Given the description of an element on the screen output the (x, y) to click on. 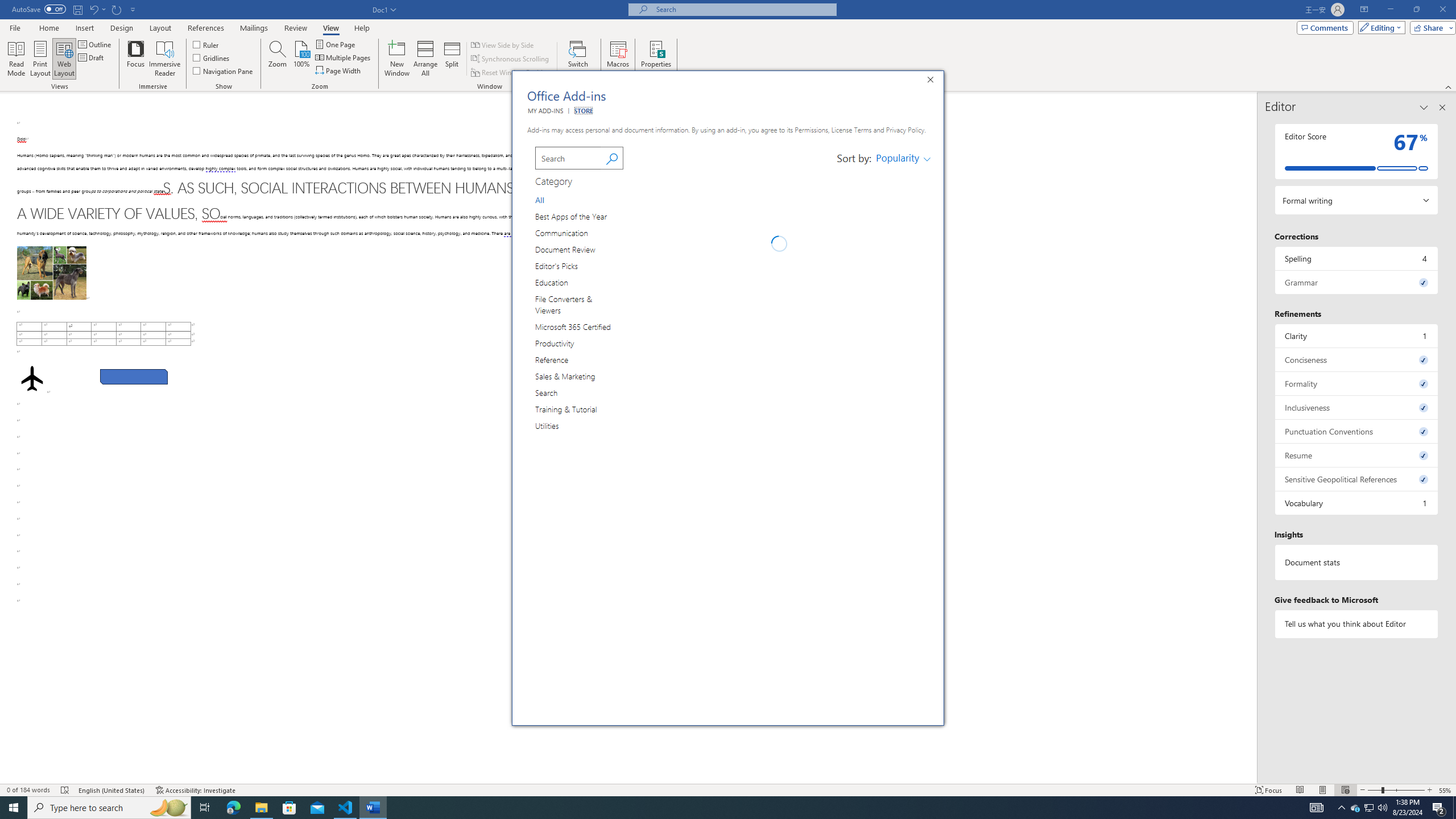
Category Group Education 6 of 14 (553, 282)
Wikipedia icon (646, 323)
officeatwork | Designer for Office icon (646, 568)
Category Group Best Apps of the Year 2 of 14 (573, 215)
Category Group Reference 10 of 14 (553, 359)
Category Group Microsoft 365 Certified 8 of 14 (575, 326)
